Given the description of an element on the screen output the (x, y) to click on. 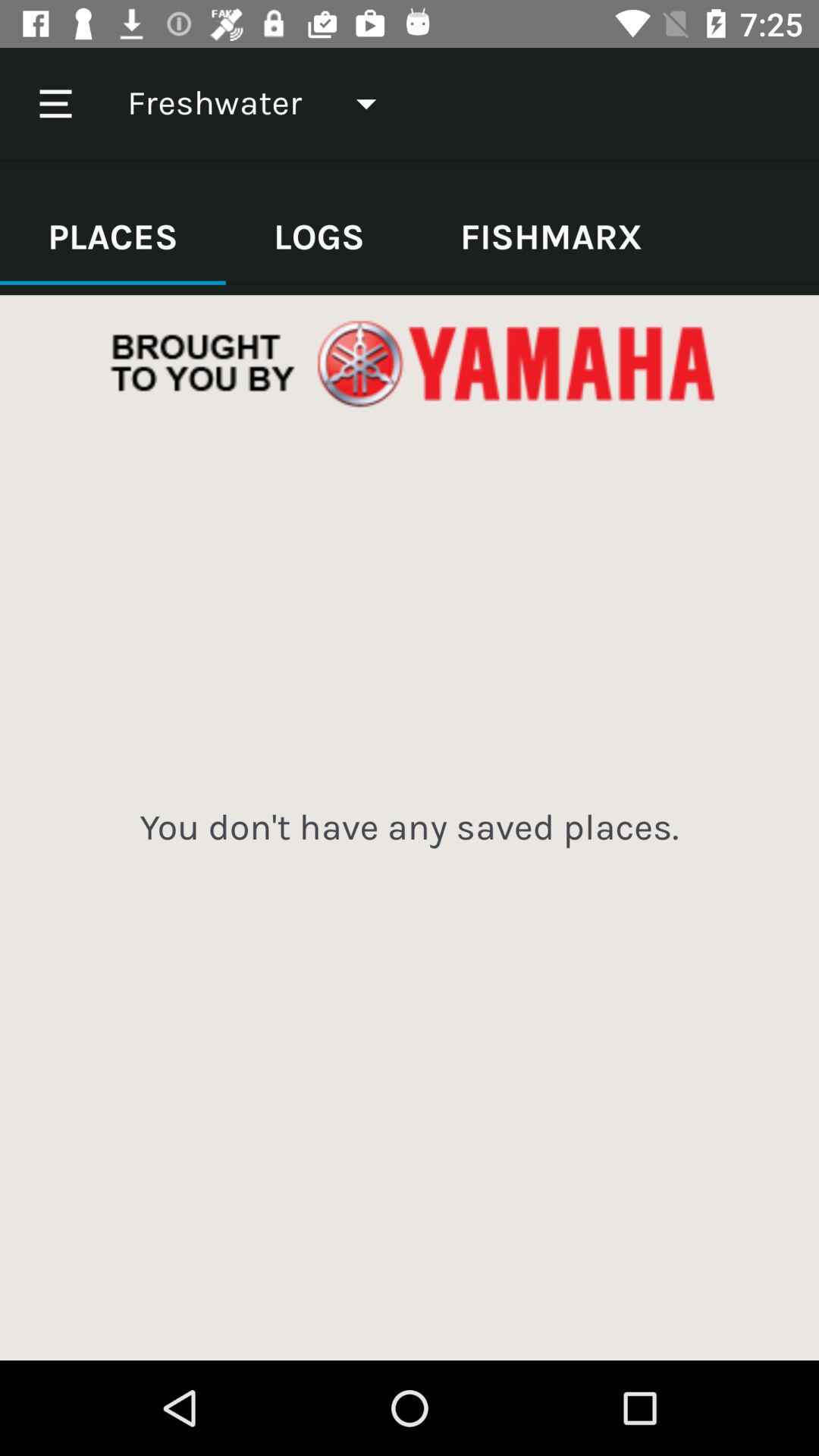
open yamaha advertisement (409, 364)
